Given the description of an element on the screen output the (x, y) to click on. 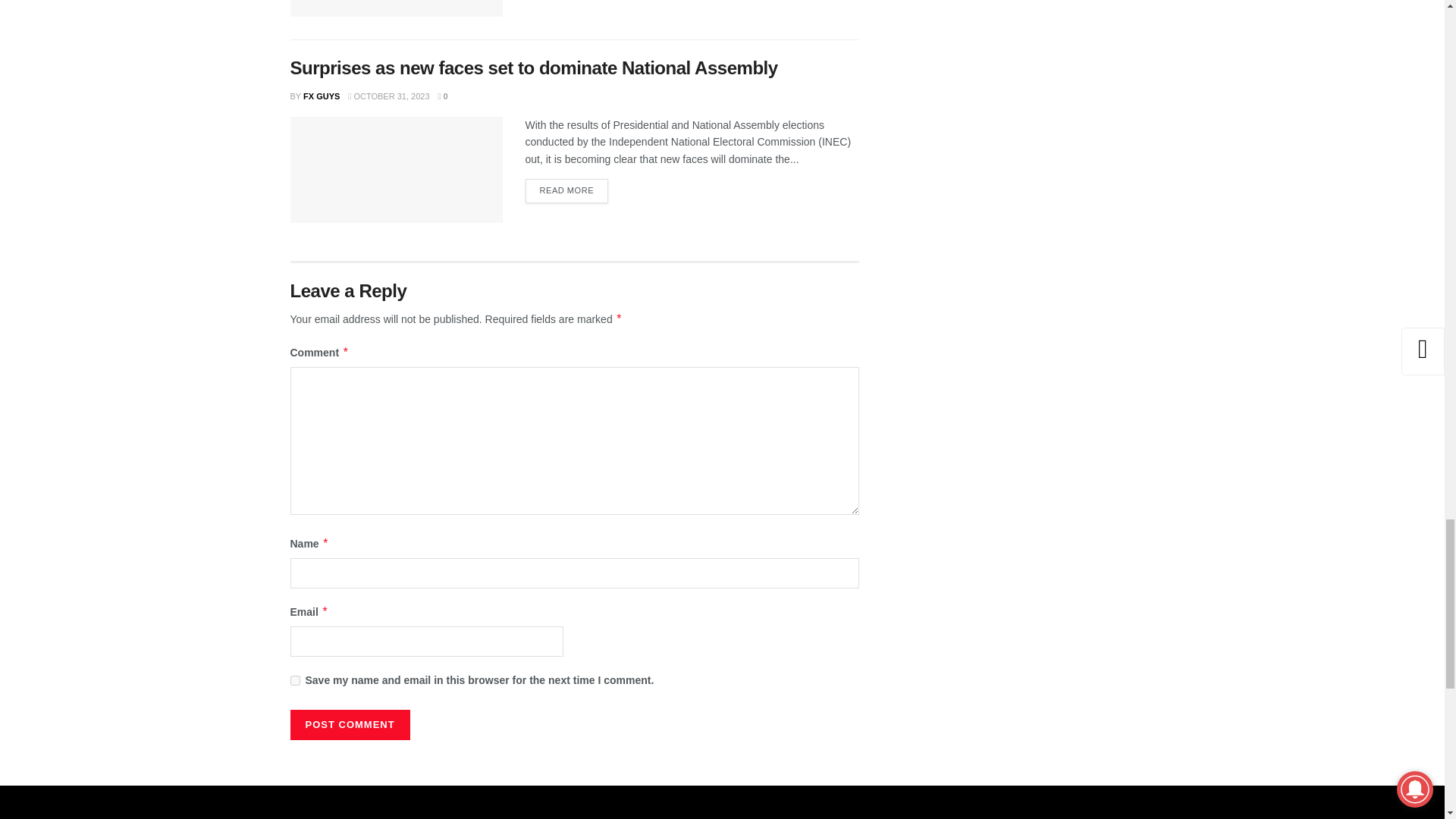
yes (294, 680)
Post Comment (349, 725)
